Given the description of an element on the screen output the (x, y) to click on. 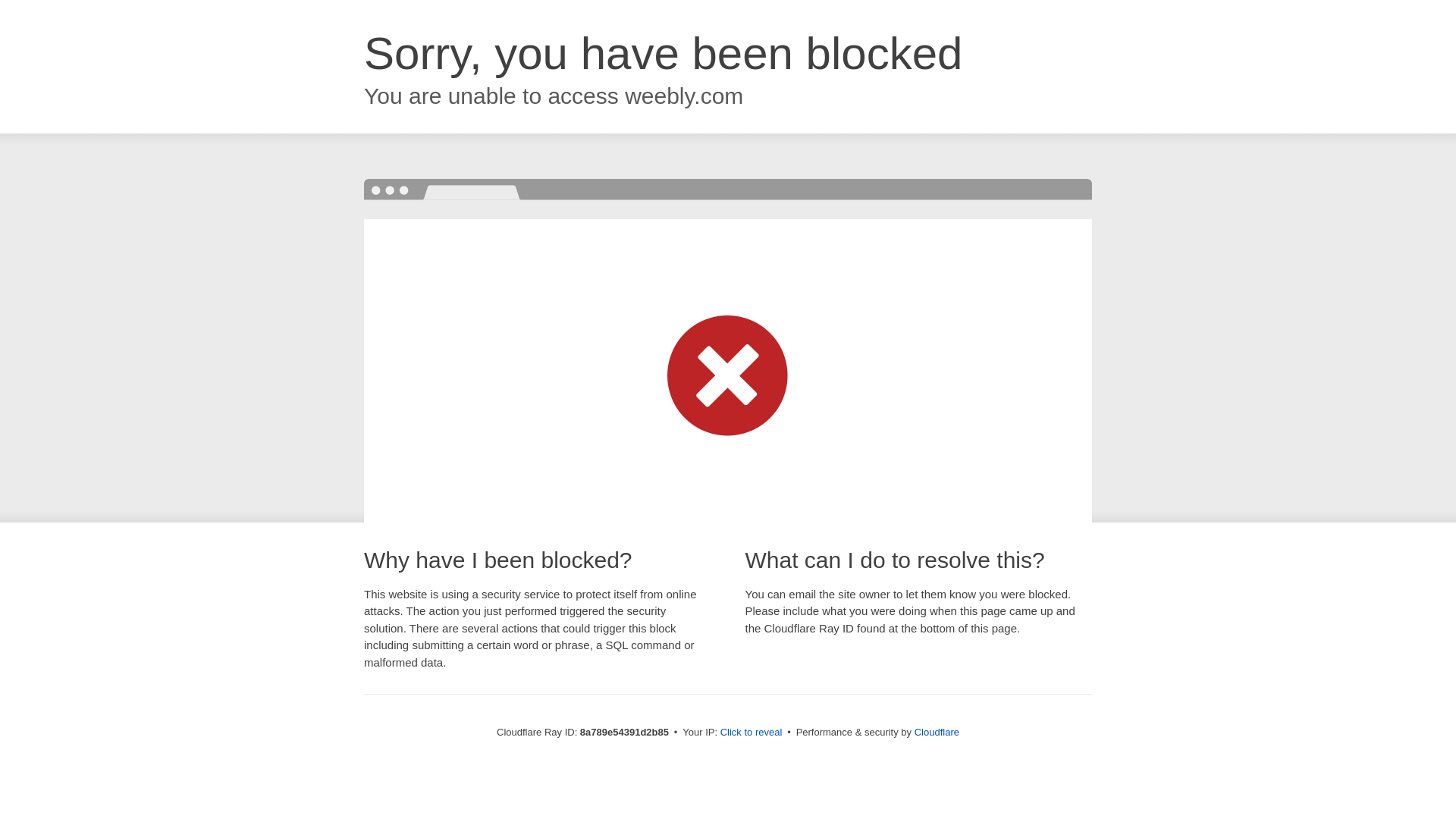
Click to reveal (751, 732)
Cloudflare (936, 731)
